Given the description of an element on the screen output the (x, y) to click on. 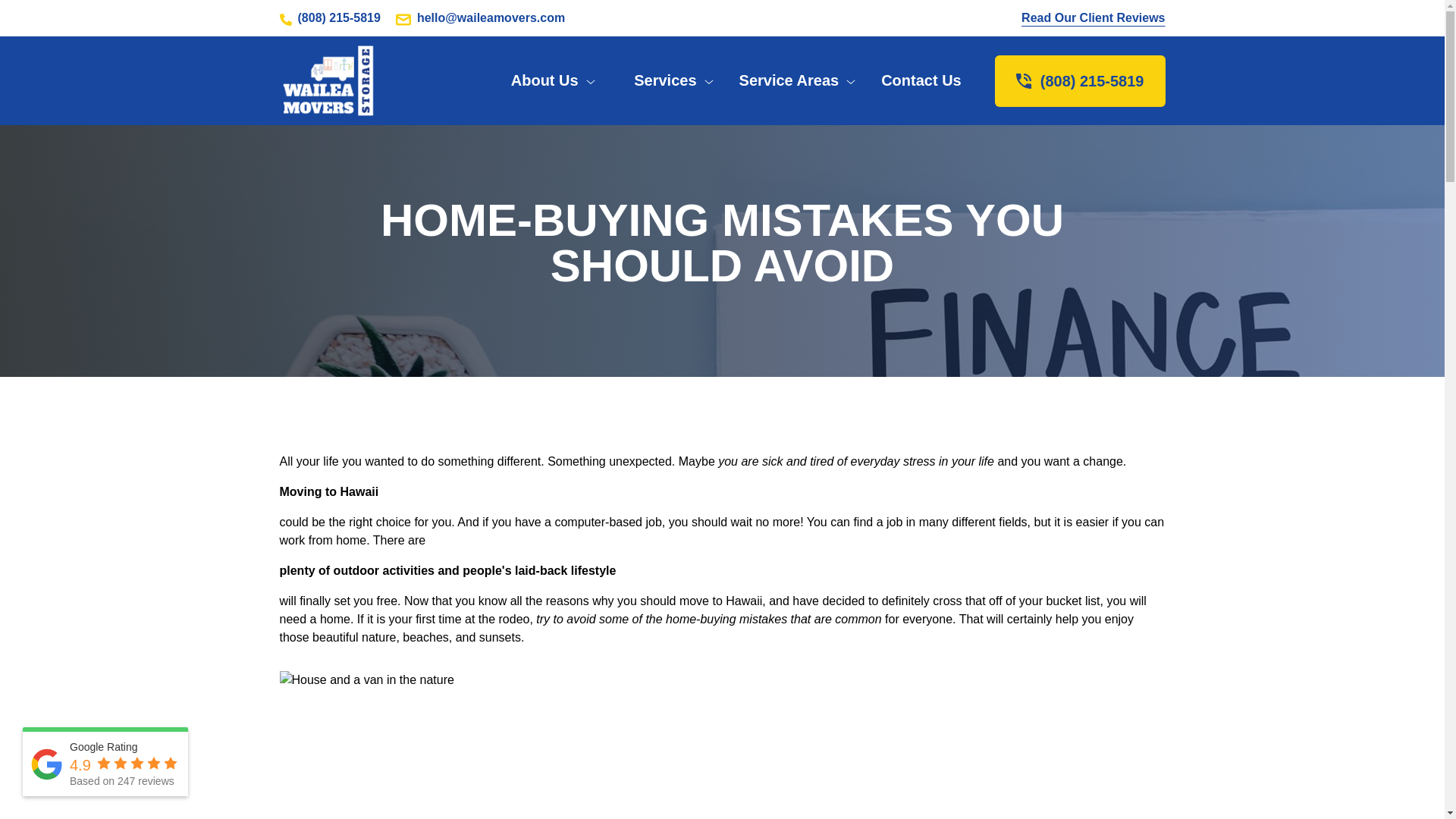
About Us (553, 80)
Read Our Client Reviews (1093, 17)
Services (673, 80)
